Given the description of an element on the screen output the (x, y) to click on. 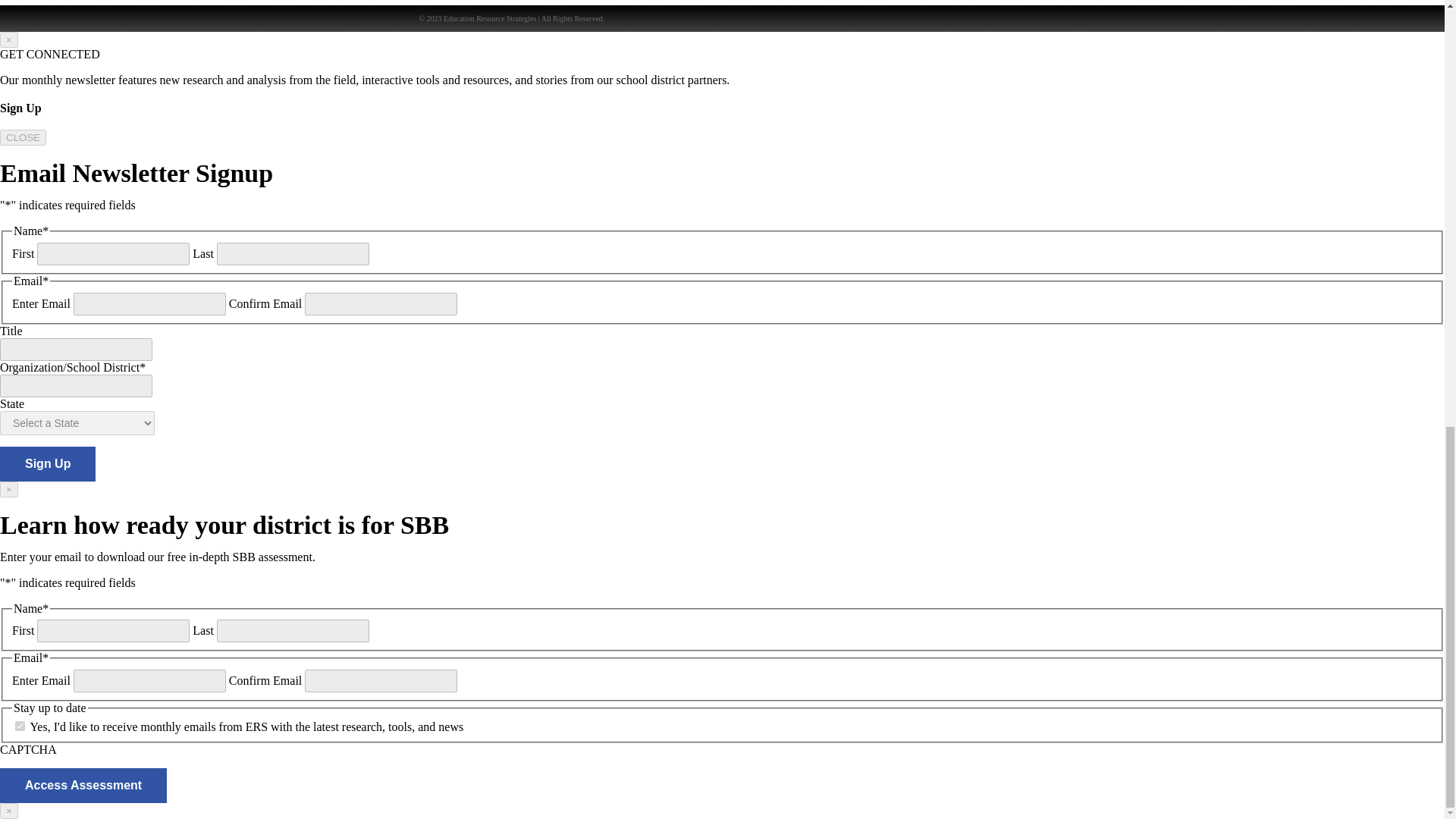
Sign Up (48, 463)
Access Assessment (83, 785)
